Given the description of an element on the screen output the (x, y) to click on. 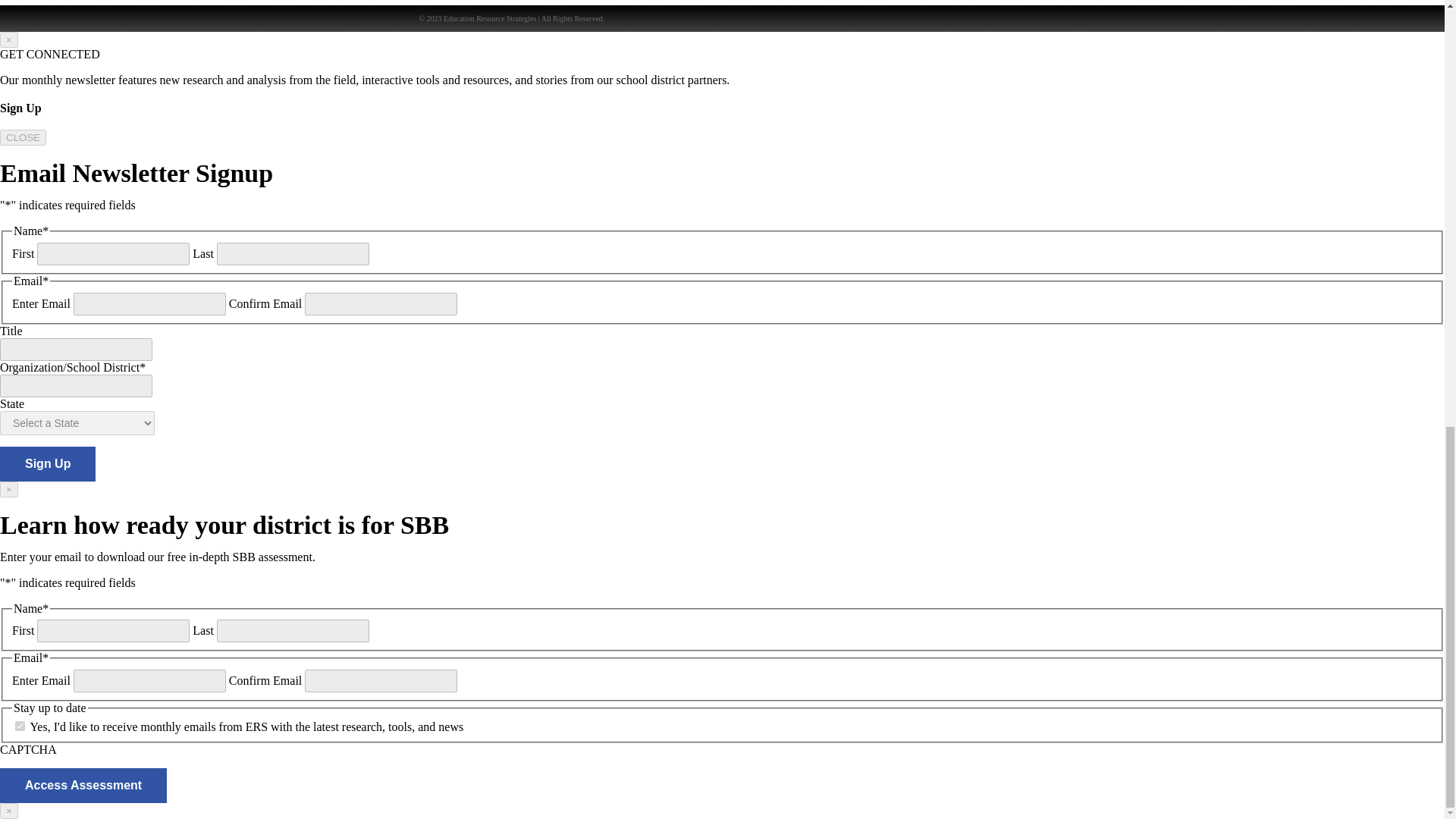
Sign Up (48, 463)
Access Assessment (83, 785)
